Given the description of an element on the screen output the (x, y) to click on. 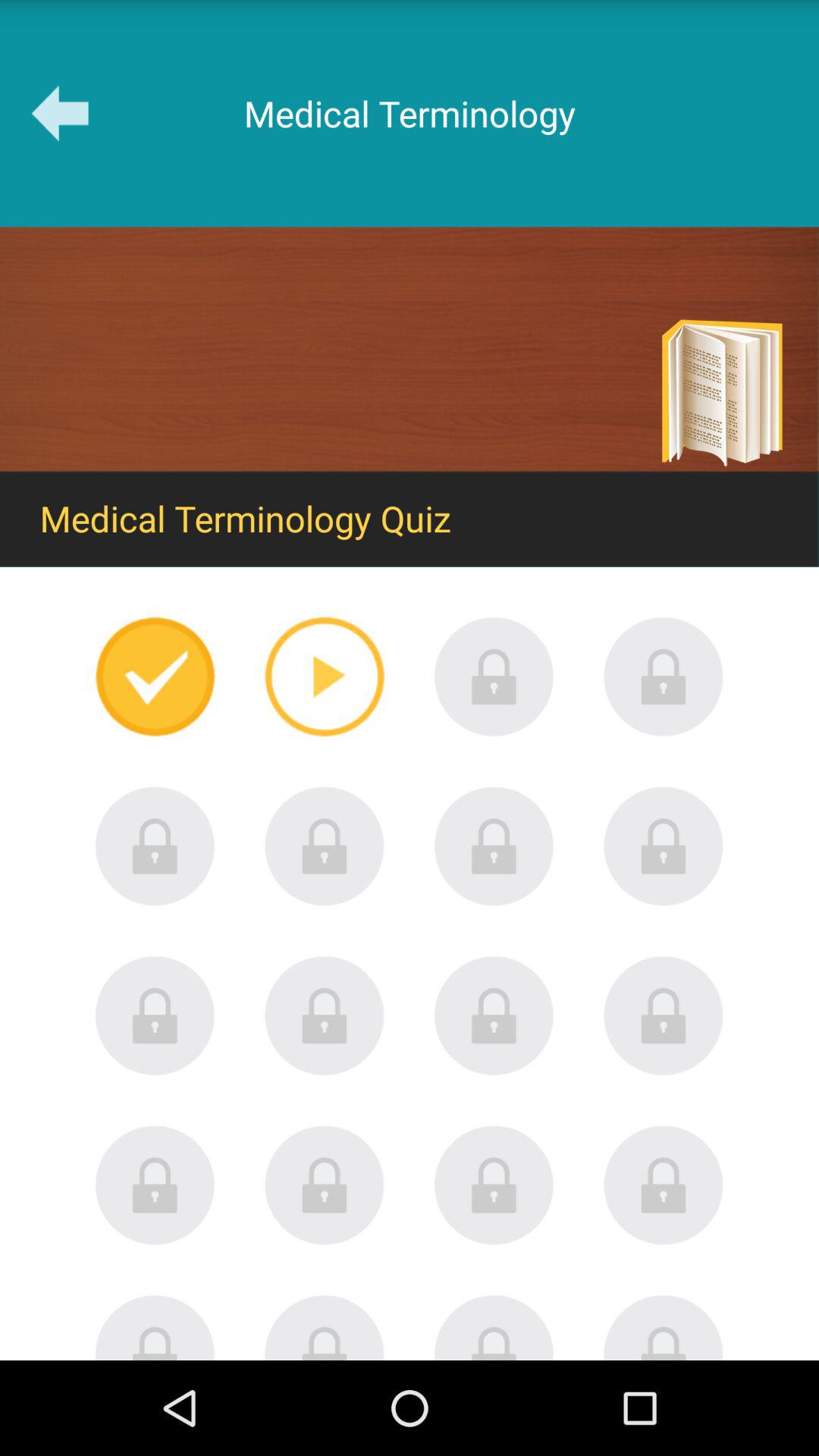
button blocked (493, 676)
